Given the description of an element on the screen output the (x, y) to click on. 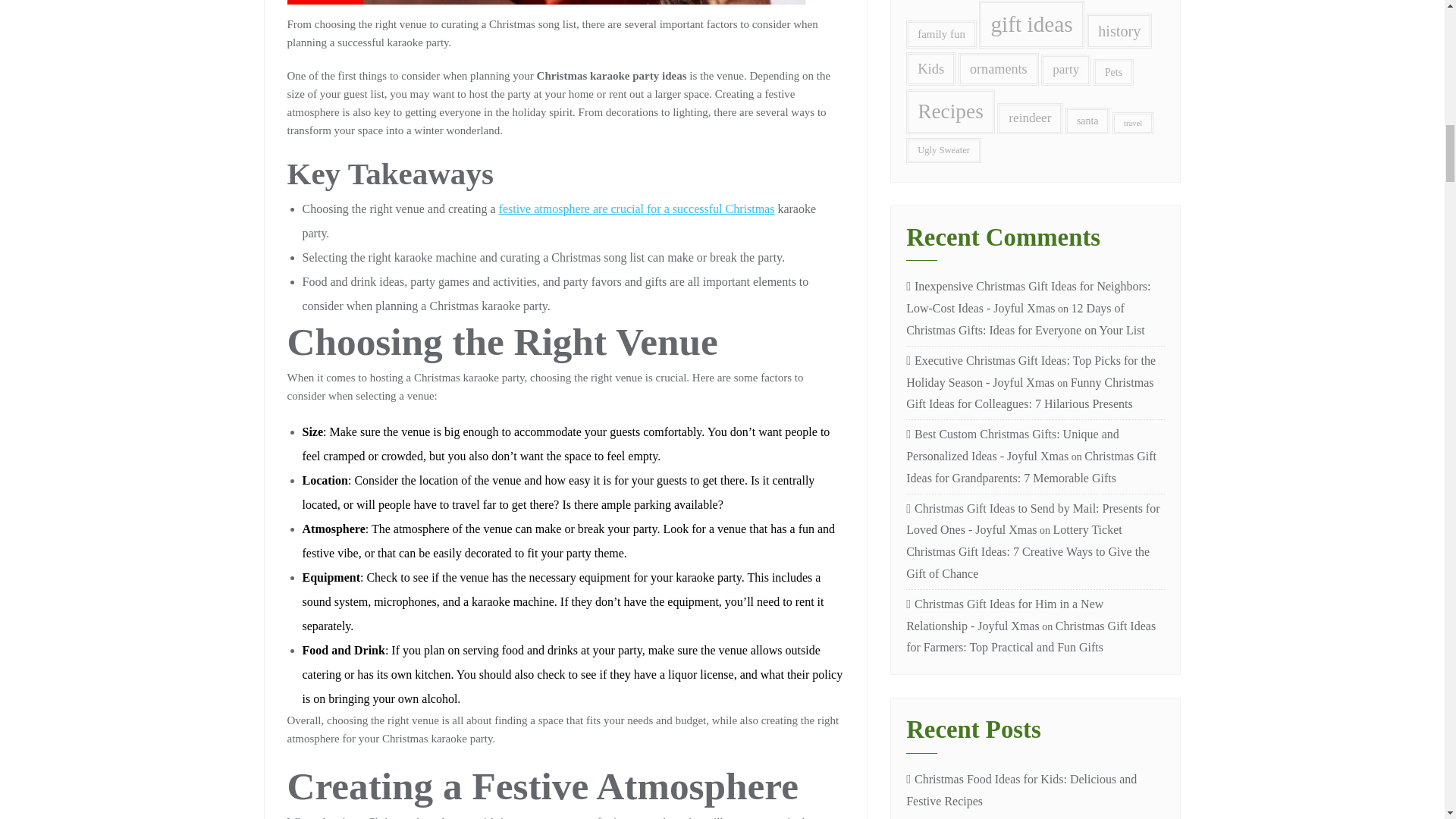
festive atmosphere are crucial for a successful Christmas (636, 208)
